Given the description of an element on the screen output the (x, y) to click on. 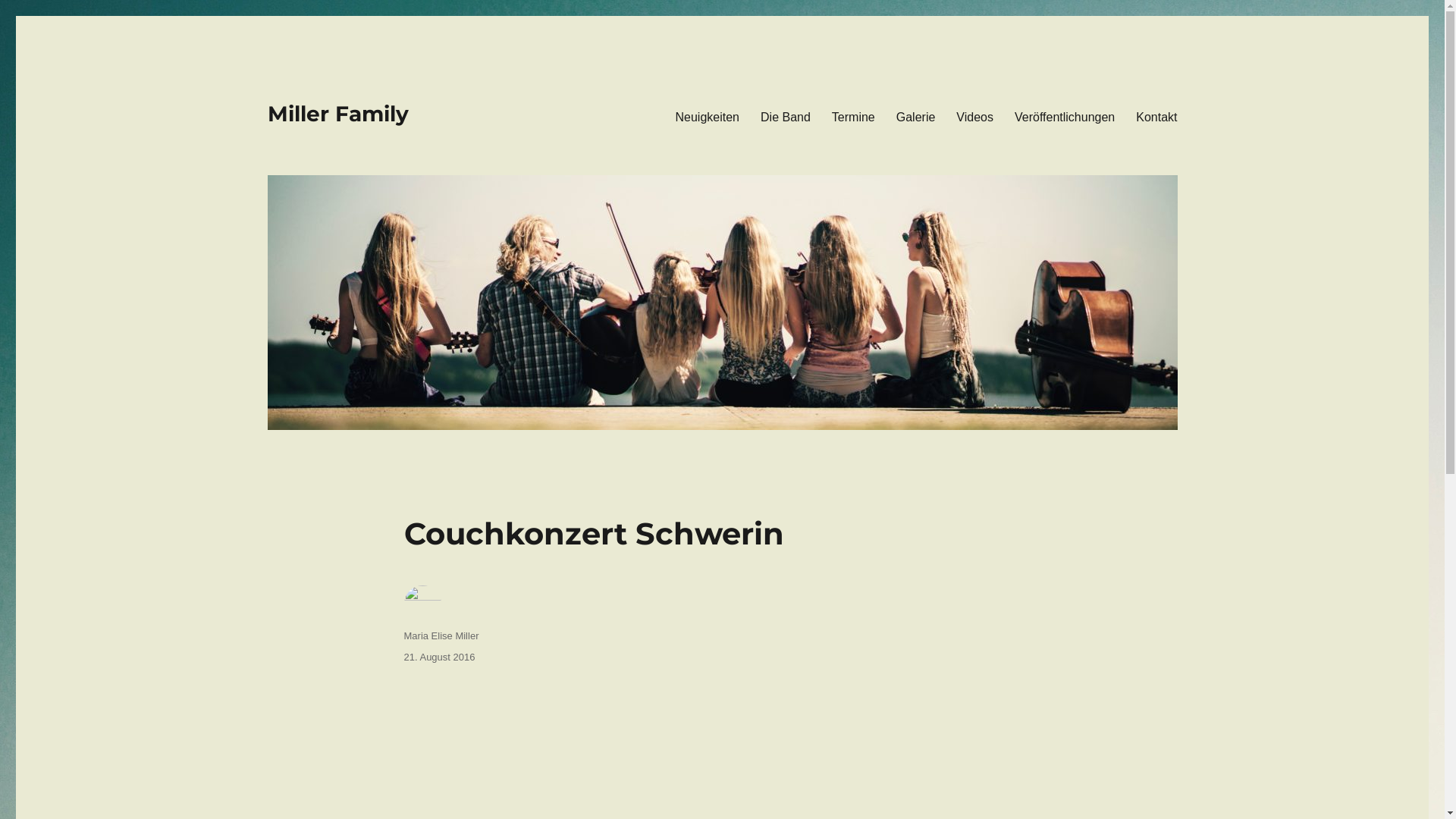
Galerie Element type: text (915, 116)
Die Band Element type: text (785, 116)
Videos Element type: text (974, 116)
Kontakt Element type: text (1156, 116)
Maria Elise Miller Element type: text (440, 635)
21. August 2016 Element type: text (438, 656)
Neuigkeiten Element type: text (707, 116)
Termine Element type: text (853, 116)
Miller Family Element type: text (336, 113)
